Given the description of an element on the screen output the (x, y) to click on. 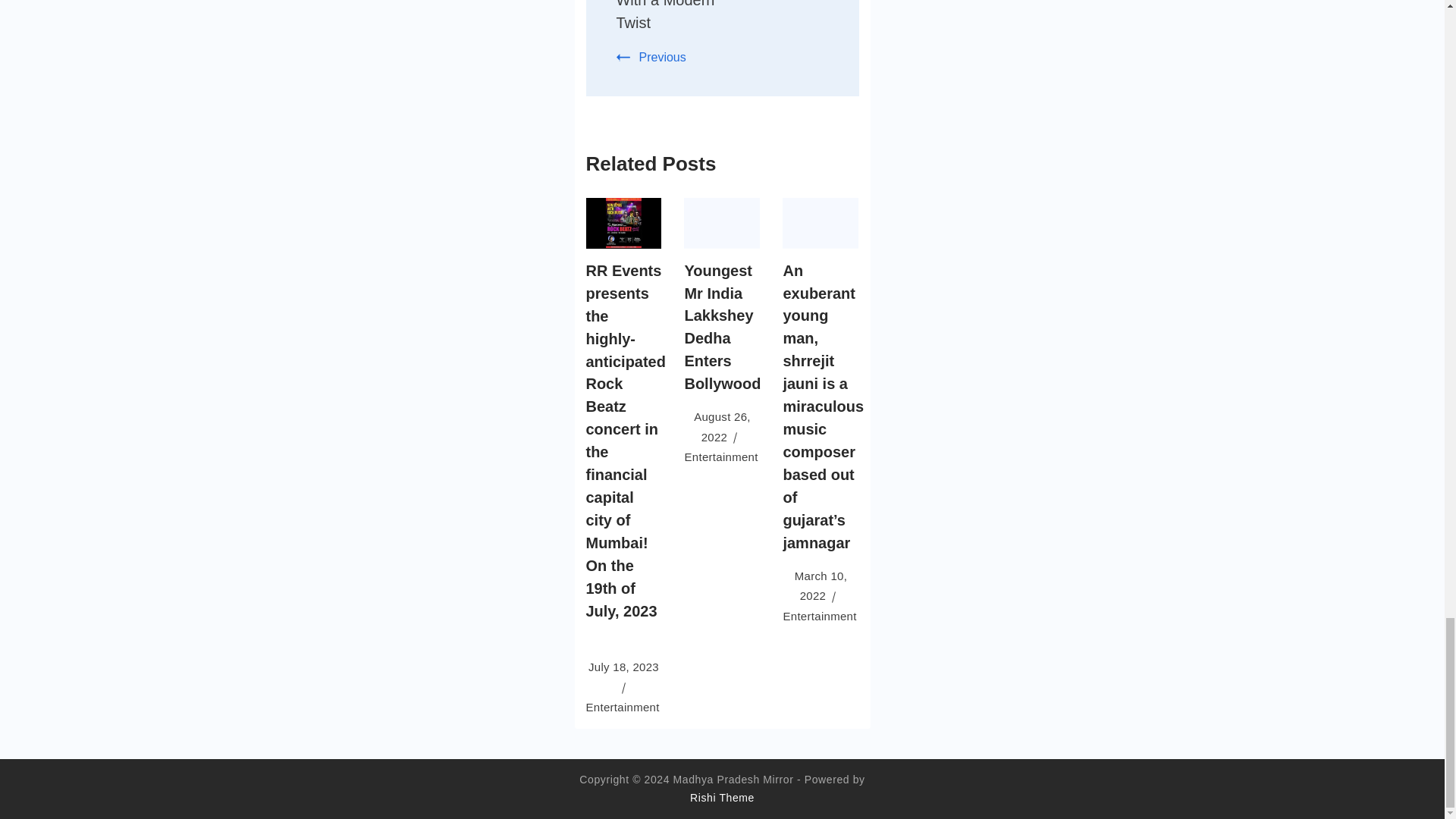
Entertainment (622, 707)
Previous (650, 56)
Rishi Theme (722, 797)
Entertainment (720, 456)
Entertainment (819, 615)
